Given the description of an element on the screen output the (x, y) to click on. 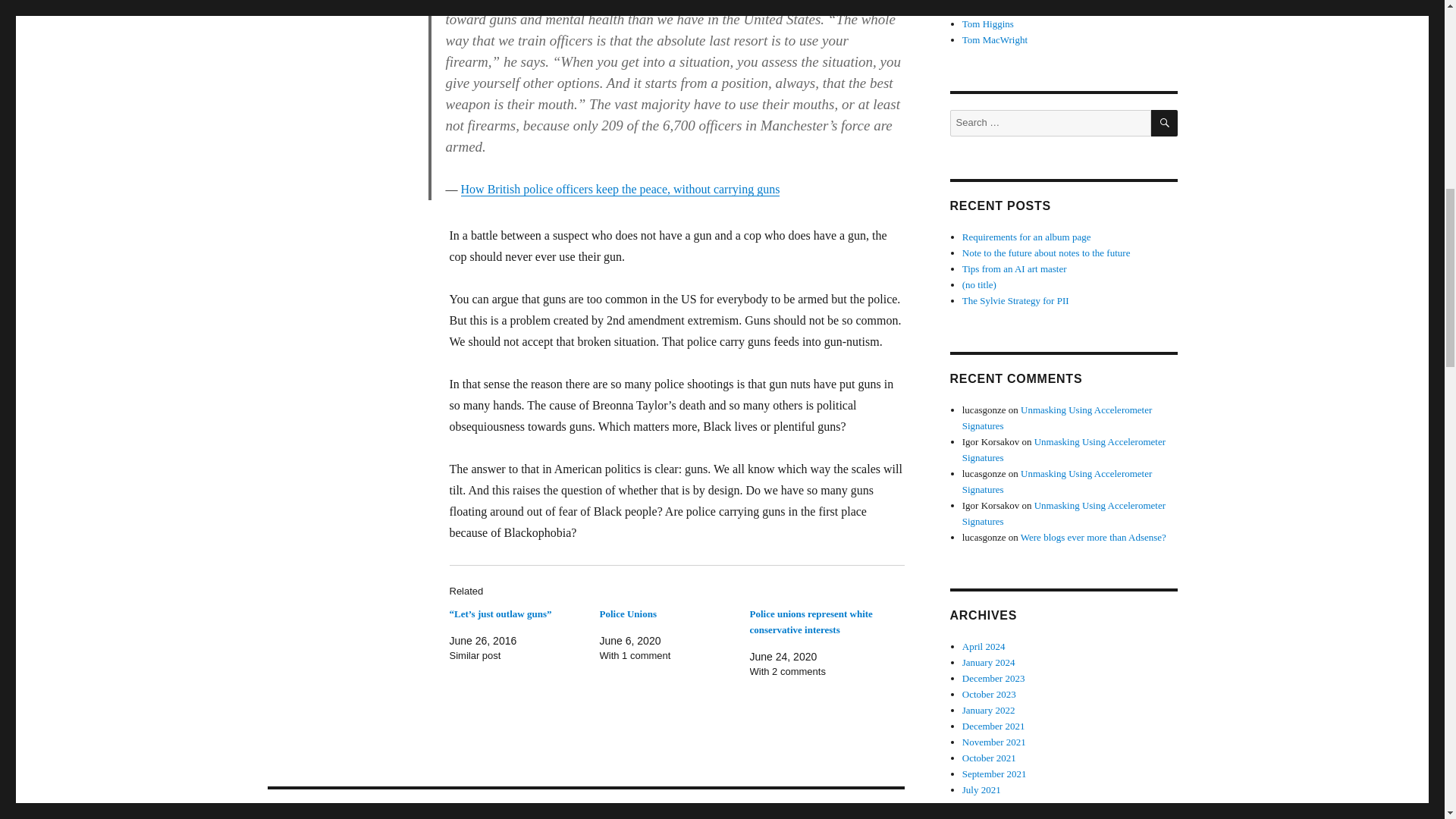
Police Unions (627, 613)
Police unions represent white conservative interests (810, 621)
Police Unions (627, 613)
Police unions represent white conservative interests (810, 621)
